Given the description of an element on the screen output the (x, y) to click on. 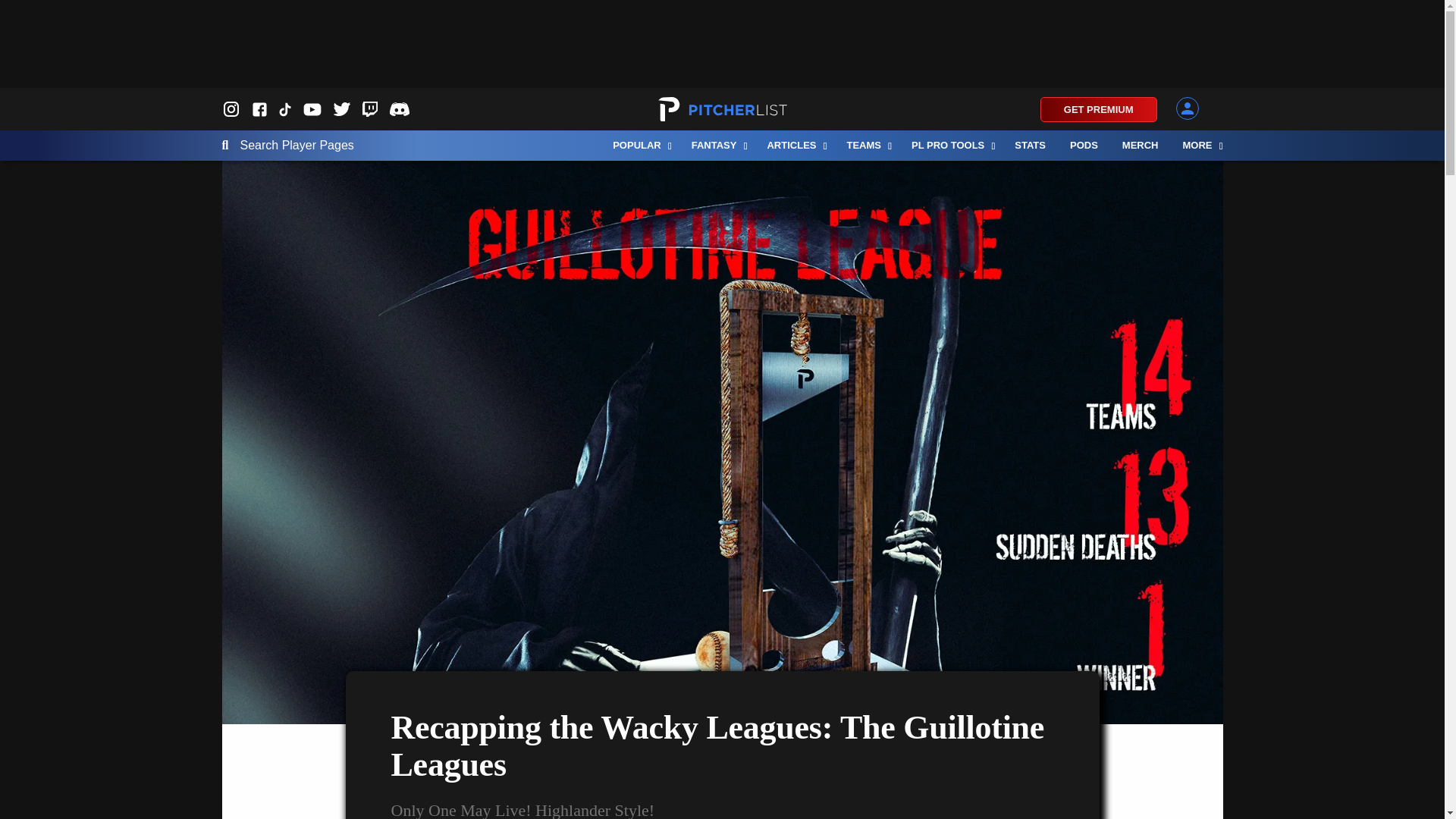
FANTASY (717, 145)
GET PREMIUM (1099, 109)
